Given the description of an element on the screen output the (x, y) to click on. 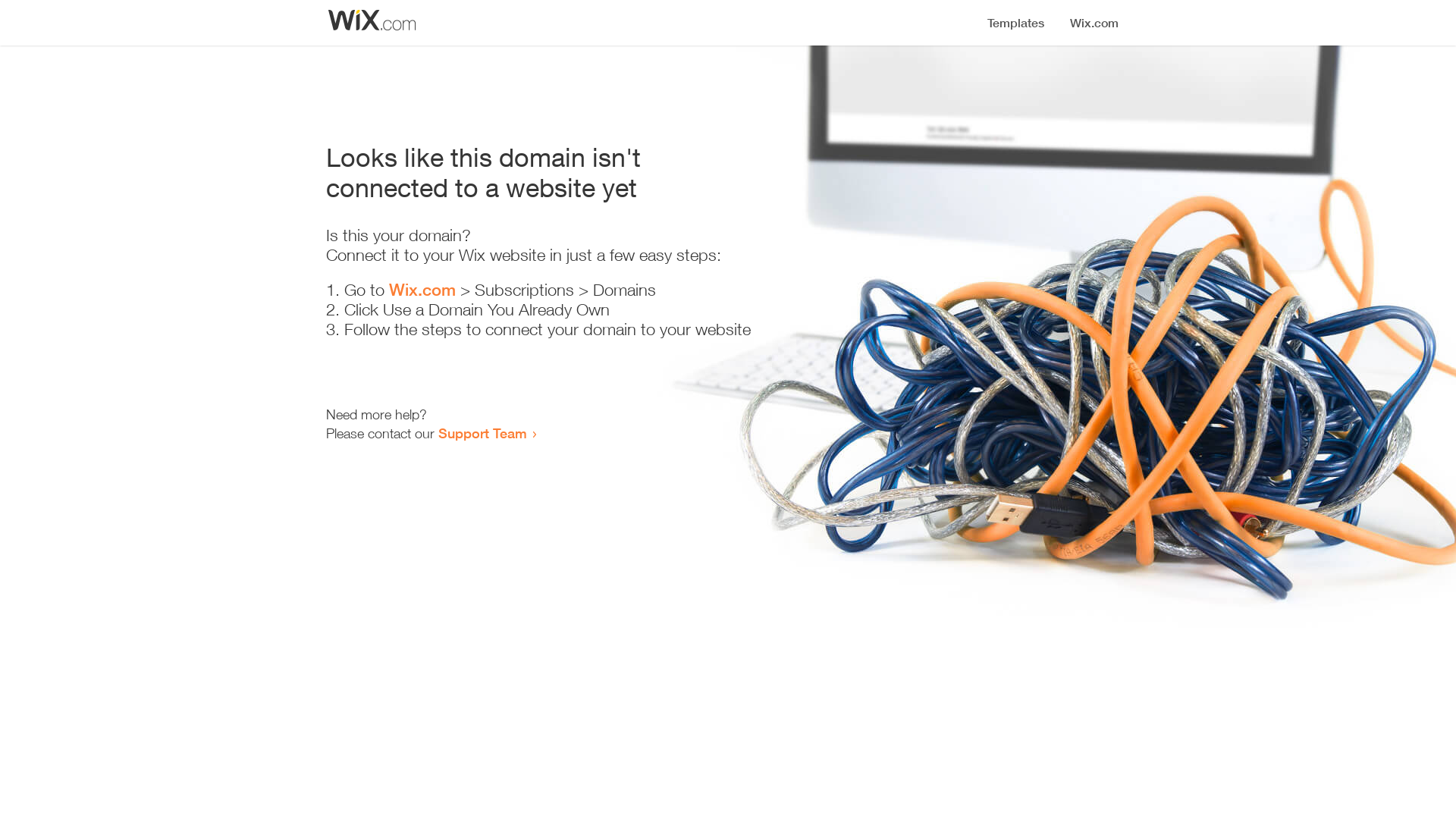
Wix.com Element type: text (422, 289)
Support Team Element type: text (482, 432)
